Given the description of an element on the screen output the (x, y) to click on. 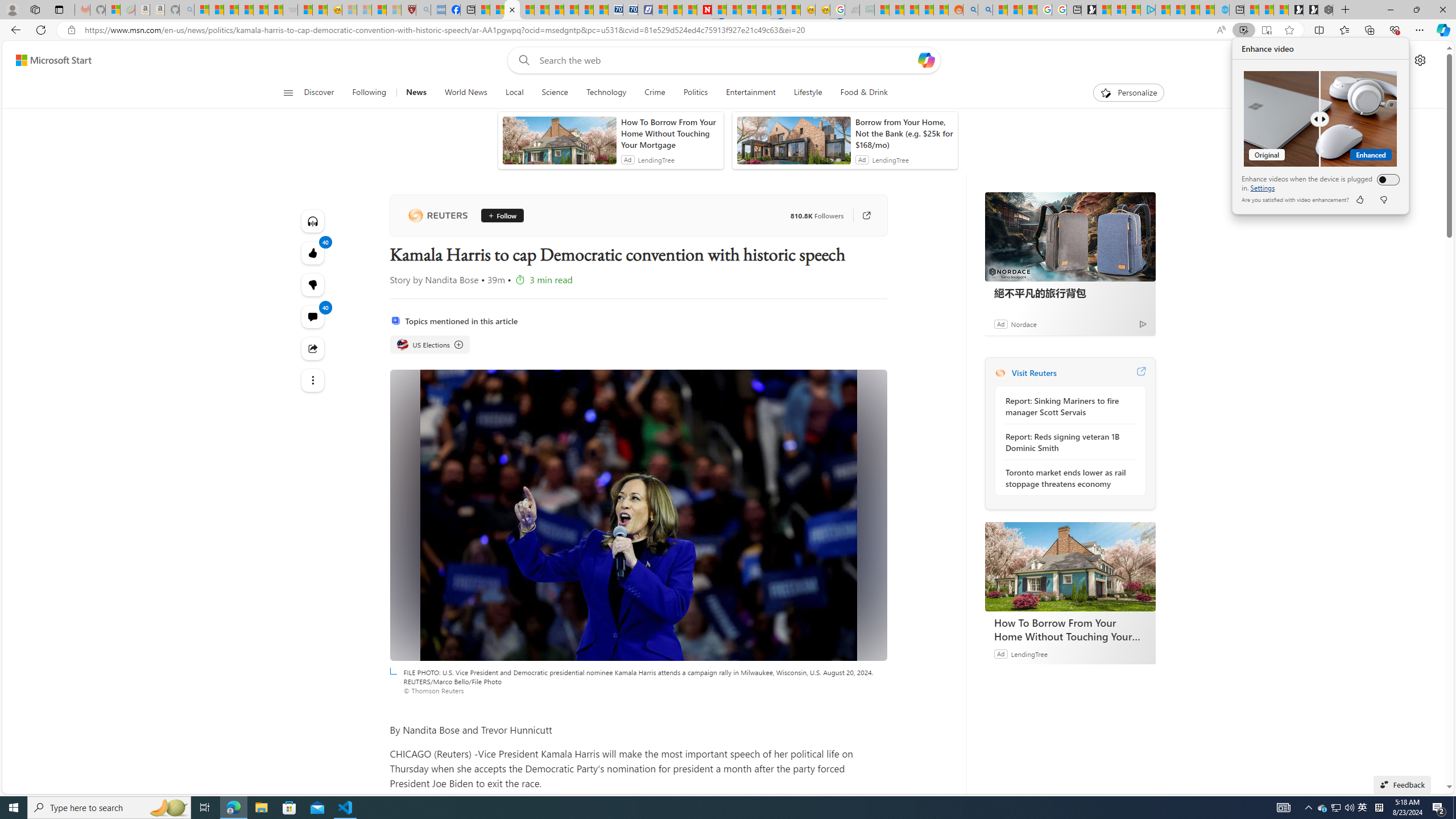
Microsoft Store (289, 807)
US Elections US Elections US Elections (430, 344)
40 (312, 284)
Borrow from Your Home, Not the Bank (e.g. $25k for $168/mo) (903, 133)
Visual Studio Code - 1 running window (345, 807)
40 Like (312, 252)
